Given the description of an element on the screen output the (x, y) to click on. 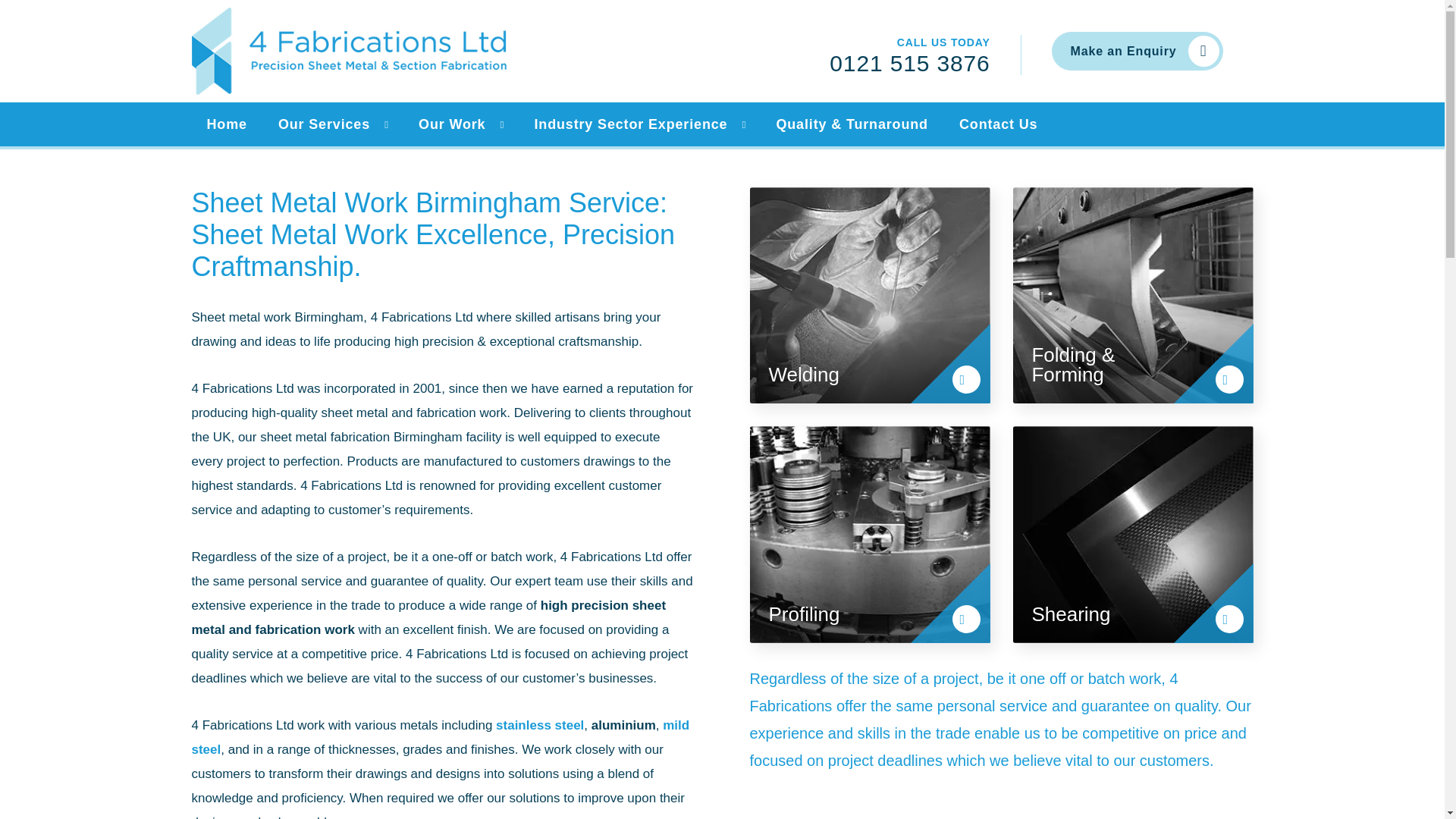
Industry Sector Experience (628, 124)
0121 515 3876 (909, 62)
Make an Enquiry (1137, 50)
Home (223, 124)
Contact Us (995, 124)
Our Services (321, 124)
stainless steel (539, 725)
Our Work (449, 124)
mild steel (439, 737)
4 Fabrications Ltd (347, 51)
